Given the description of an element on the screen output the (x, y) to click on. 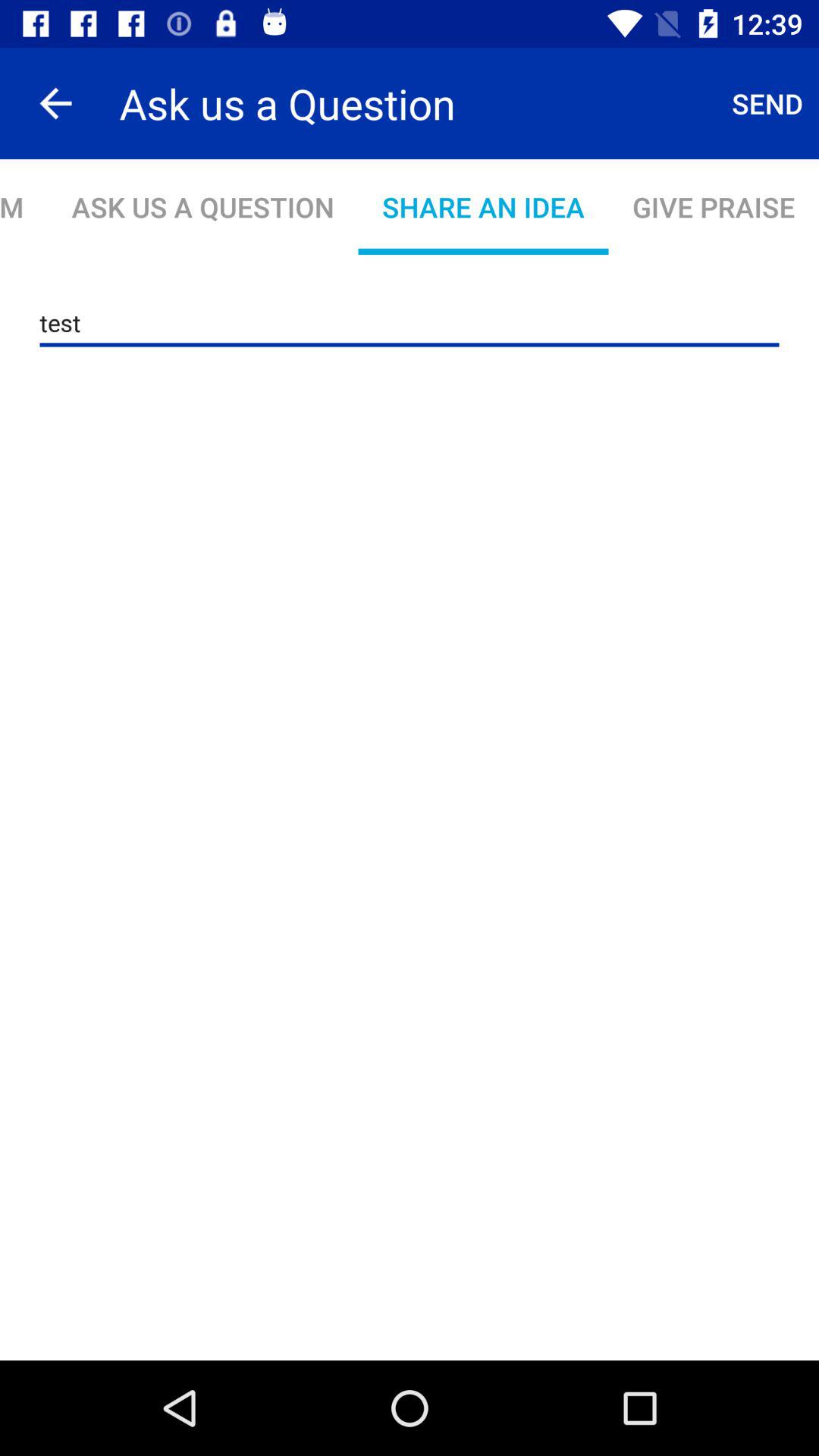
launch the icon above the give praise (767, 103)
